Given the description of an element on the screen output the (x, y) to click on. 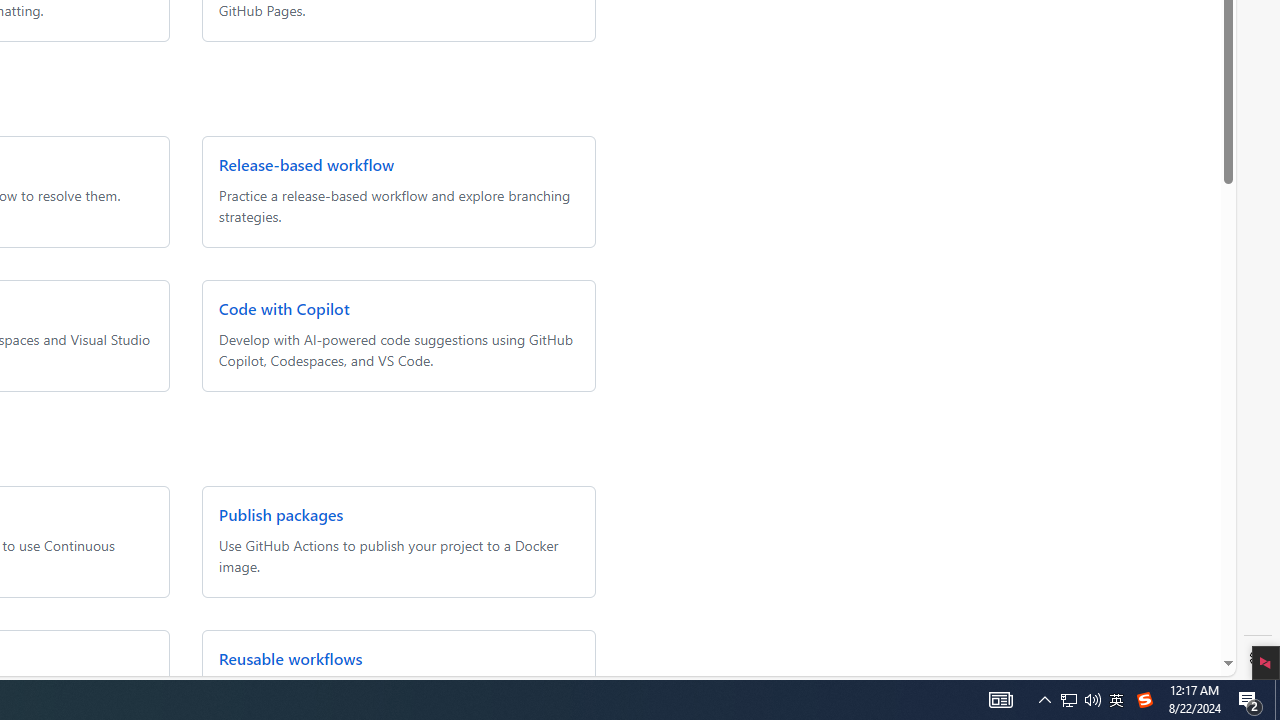
Release-based workflow (306, 164)
Reusable workflows (290, 658)
Publish packages (280, 513)
Code with Copilot (283, 308)
